Given the description of an element on the screen output the (x, y) to click on. 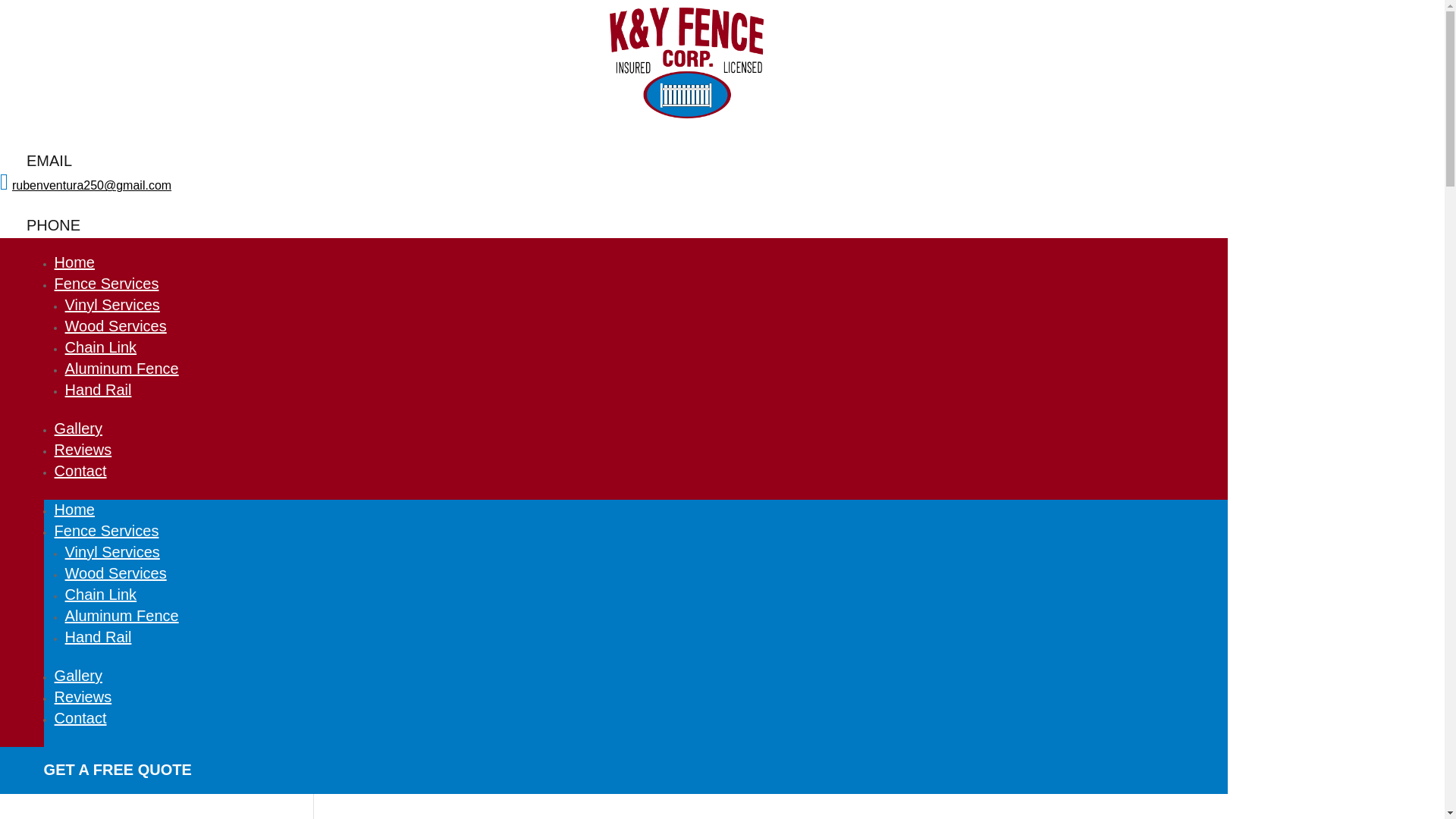
Chain Link (100, 347)
LOGO-01 (686, 62)
Gallery (78, 675)
Reviews (83, 449)
Contact (80, 718)
Fence Services (106, 530)
Fence Services (106, 283)
Home (74, 262)
Reviews (83, 696)
Chain Link (100, 594)
Contact (80, 470)
Aluminum Fence (122, 368)
Hand Rail (98, 636)
Wood Services (116, 325)
Vinyl Services (112, 304)
